Given the description of an element on the screen output the (x, y) to click on. 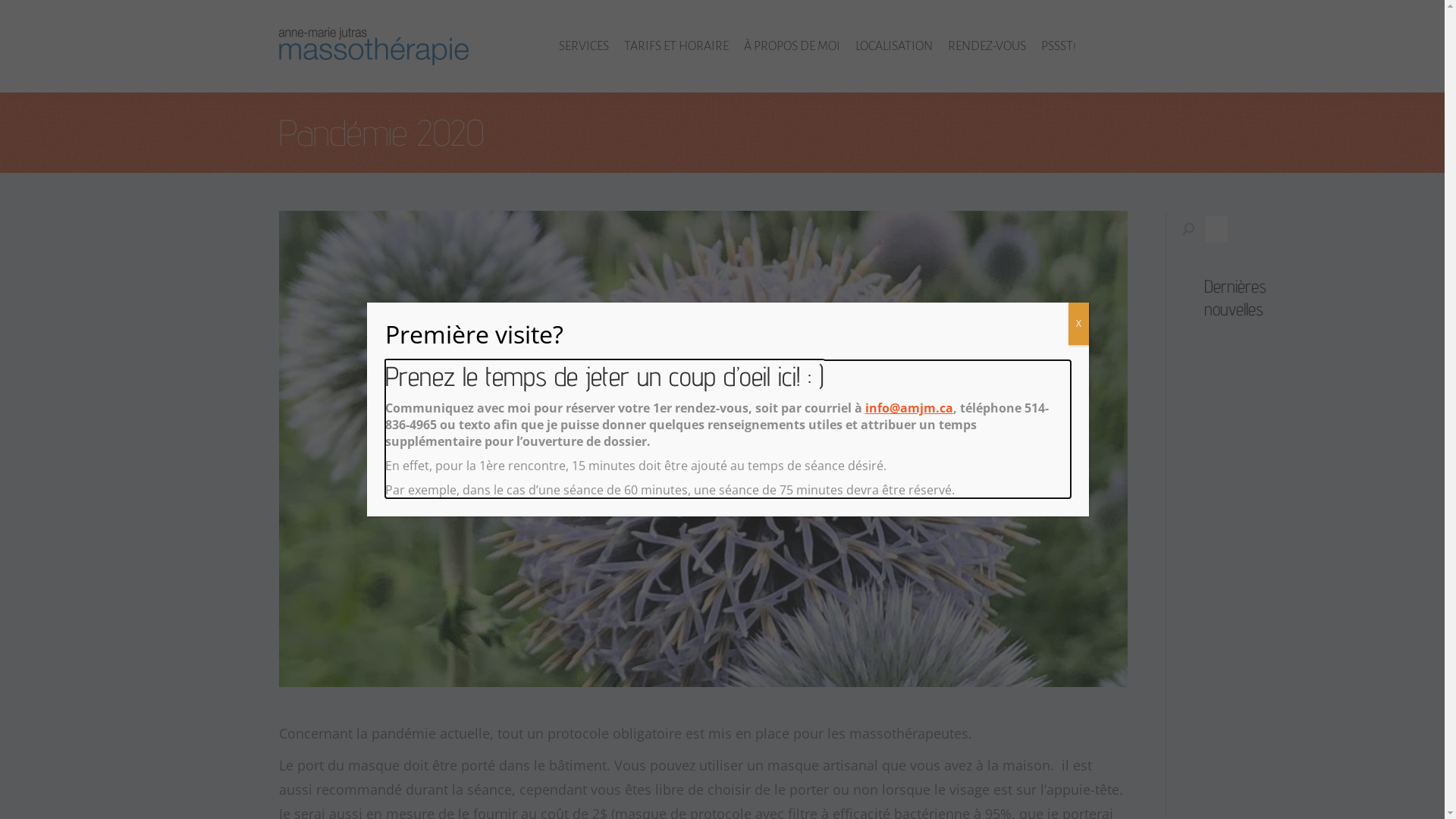
LOCALISATION Element type: text (893, 45)
fleur-couronne-2 Element type: hover (703, 448)
RENDEZ-VOUS Element type: text (986, 45)
TARIFS ET HORAIRE Element type: text (675, 45)
Laisser un commentaire Element type: text (79, 15)
SERVICES Element type: text (583, 45)
Go! Element type: text (1179, 228)
PSSST! Element type: text (1057, 45)
info@amjm.ca Element type: text (909, 407)
X Element type: text (1078, 323)
